Given the description of an element on the screen output the (x, y) to click on. 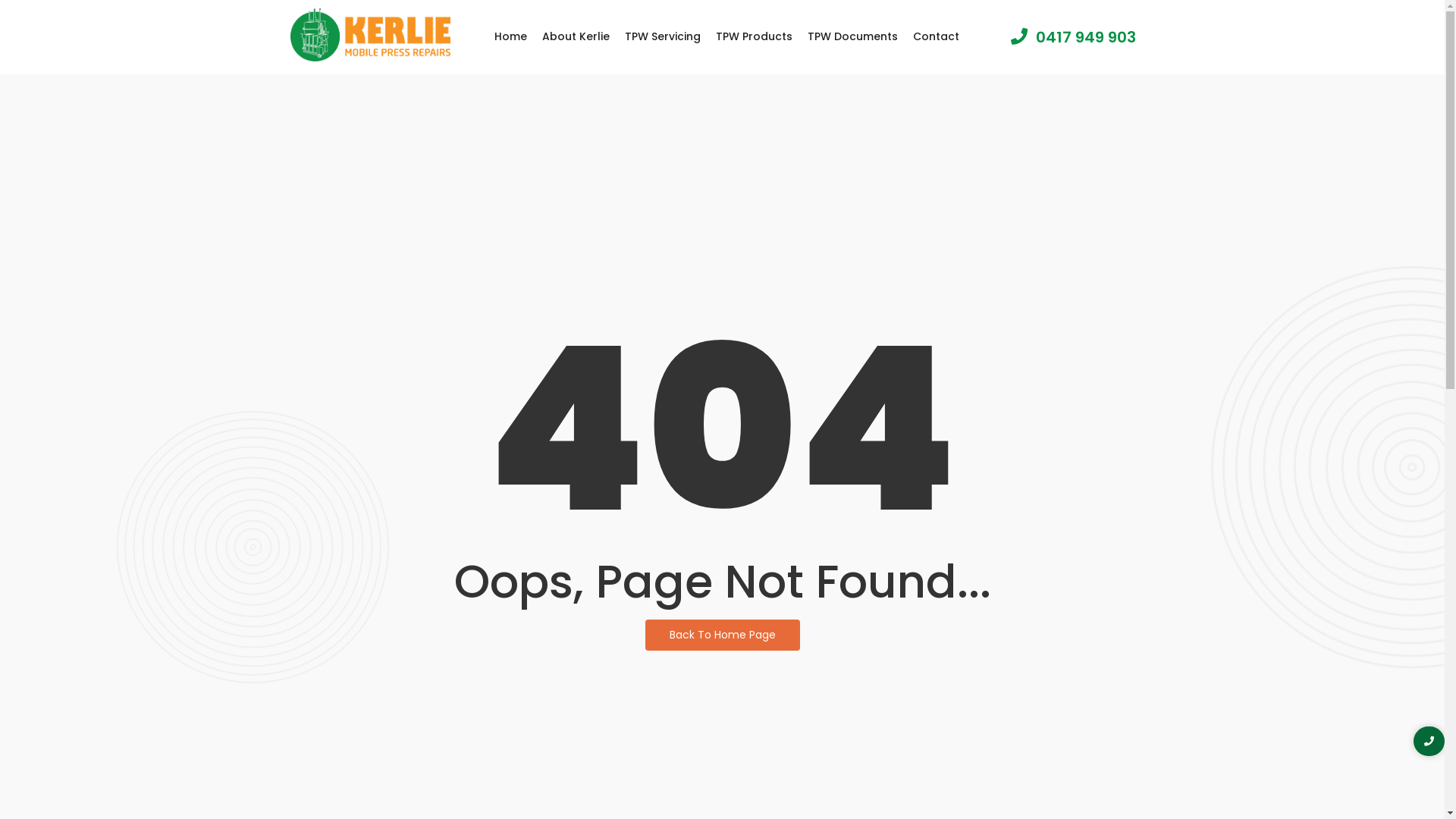
Contact Element type: text (936, 36)
Back To Home Page Element type: text (721, 634)
Home Element type: text (510, 36)
TPW Documents Element type: text (852, 36)
TPW Products Element type: text (753, 36)
About Kerlie Element type: text (575, 36)
0417 949 903 Element type: text (1078, 36)
TPW Servicing Element type: text (662, 36)
